Given the description of an element on the screen output the (x, y) to click on. 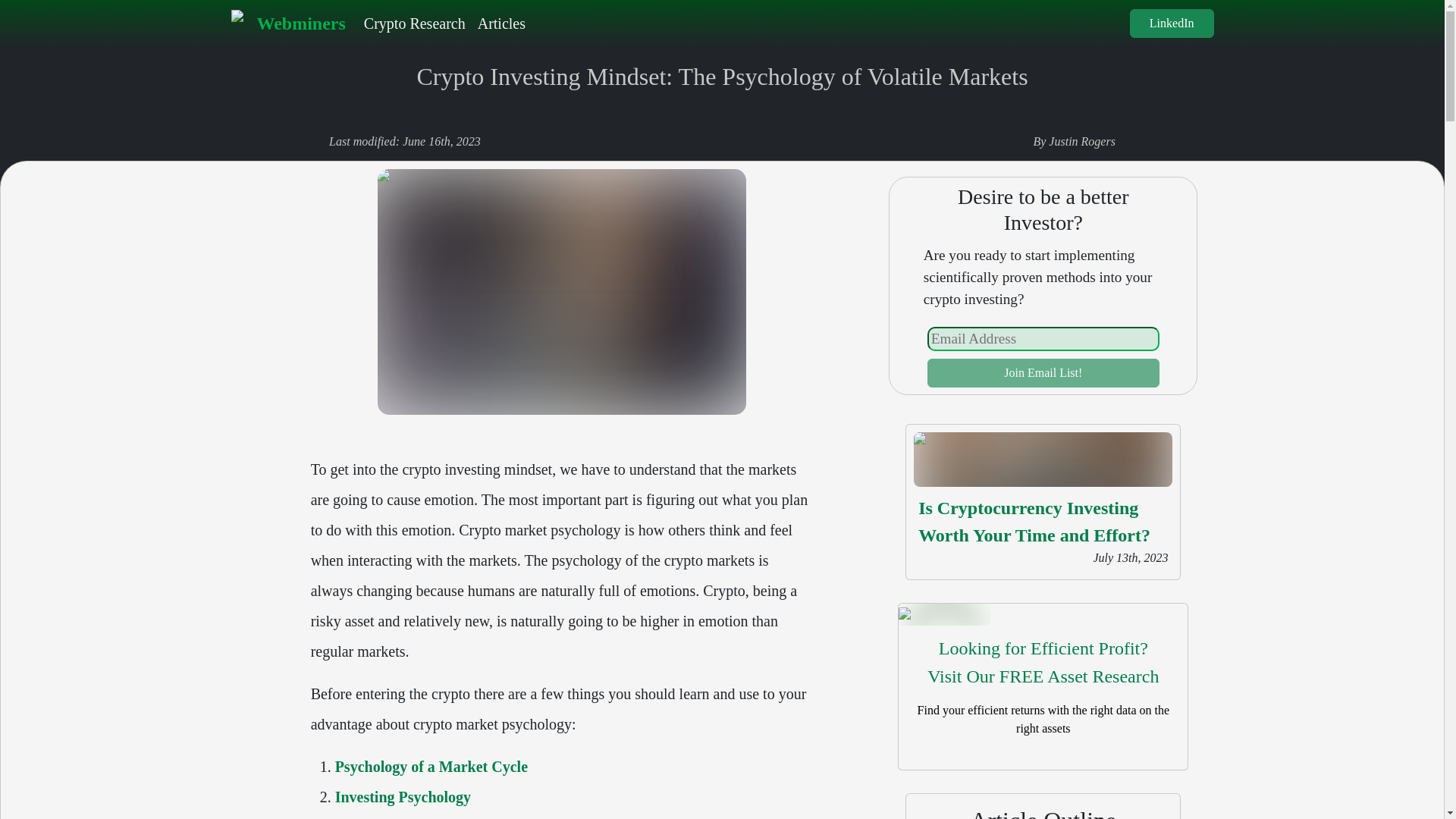
Is Cryptocurrency Investing Worth Your Time and Effort? (1043, 662)
Join Email List! (1034, 521)
Investing Psychology (1042, 372)
Webminers (402, 796)
Psychology of a Market Cycle (287, 22)
Crypto Research (430, 766)
LinkedIn (414, 22)
Articles (1171, 23)
